Given the description of an element on the screen output the (x, y) to click on. 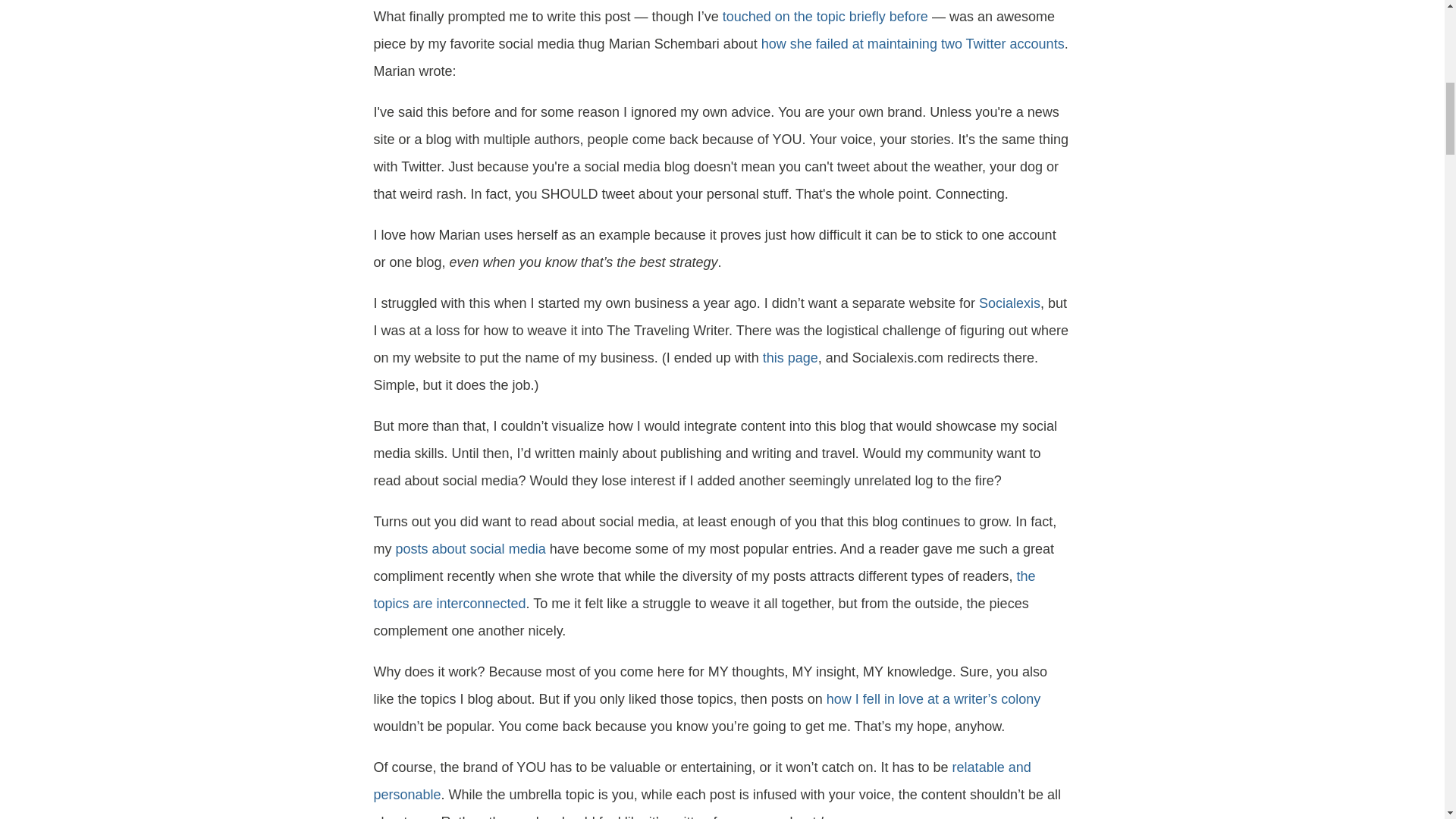
this page (790, 357)
Why I Completely Failed at Maintaining 2 Twitter Accounts (912, 43)
the topics are interconnected (703, 589)
Socialexis (1009, 303)
relatable and personable (701, 781)
touched on the topic briefly before (825, 16)
media (527, 548)
Socialexis (1009, 303)
Socialexis (790, 357)
how she failed at maintaining two Twitter accounts (912, 43)
